Given the description of an element on the screen output the (x, y) to click on. 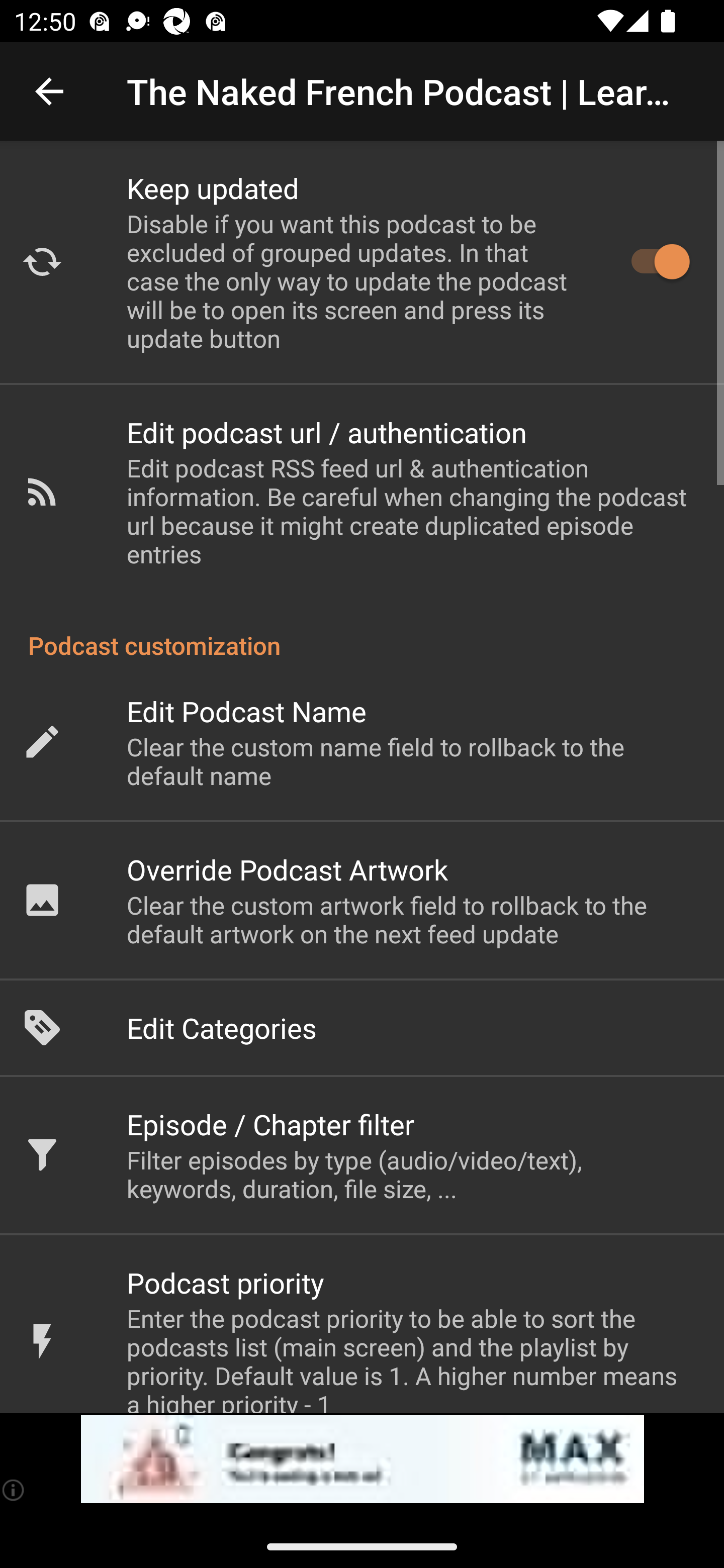
Navigate up (49, 91)
Edit Categories (362, 1027)
app-monetization (362, 1459)
(i) (14, 1489)
